Given the description of an element on the screen output the (x, y) to click on. 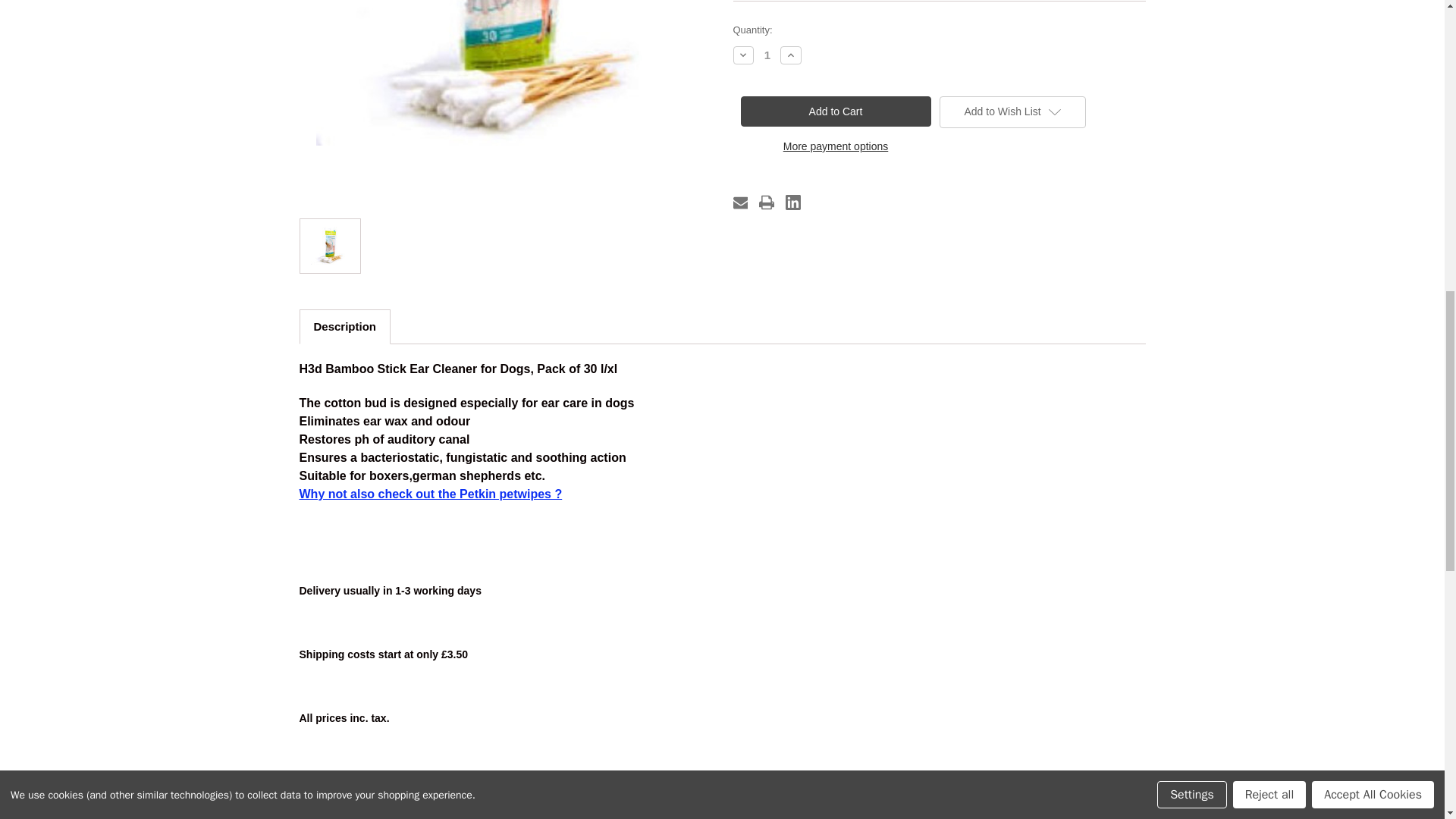
Add to Cart (834, 111)
1 (767, 54)
